Given the description of an element on the screen output the (x, y) to click on. 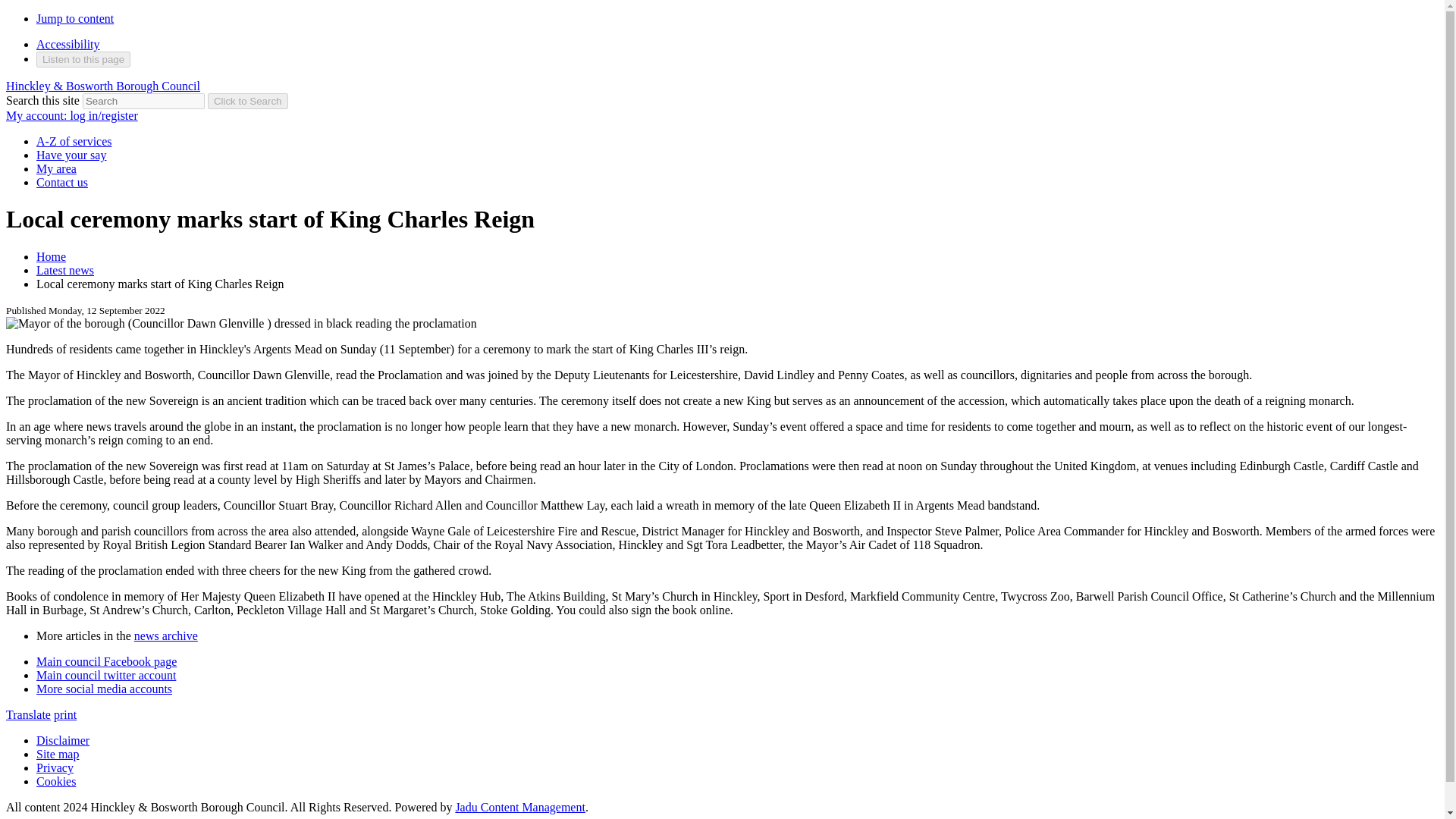
Main council Facebook page (106, 661)
news archive (165, 635)
Have your say (71, 154)
More social media accounts (103, 688)
Privacy (55, 767)
Jump to content (74, 18)
Latest news (65, 269)
Click to Search (248, 100)
Listen to this page (83, 59)
Site map (57, 753)
